Given the description of an element on the screen output the (x, y) to click on. 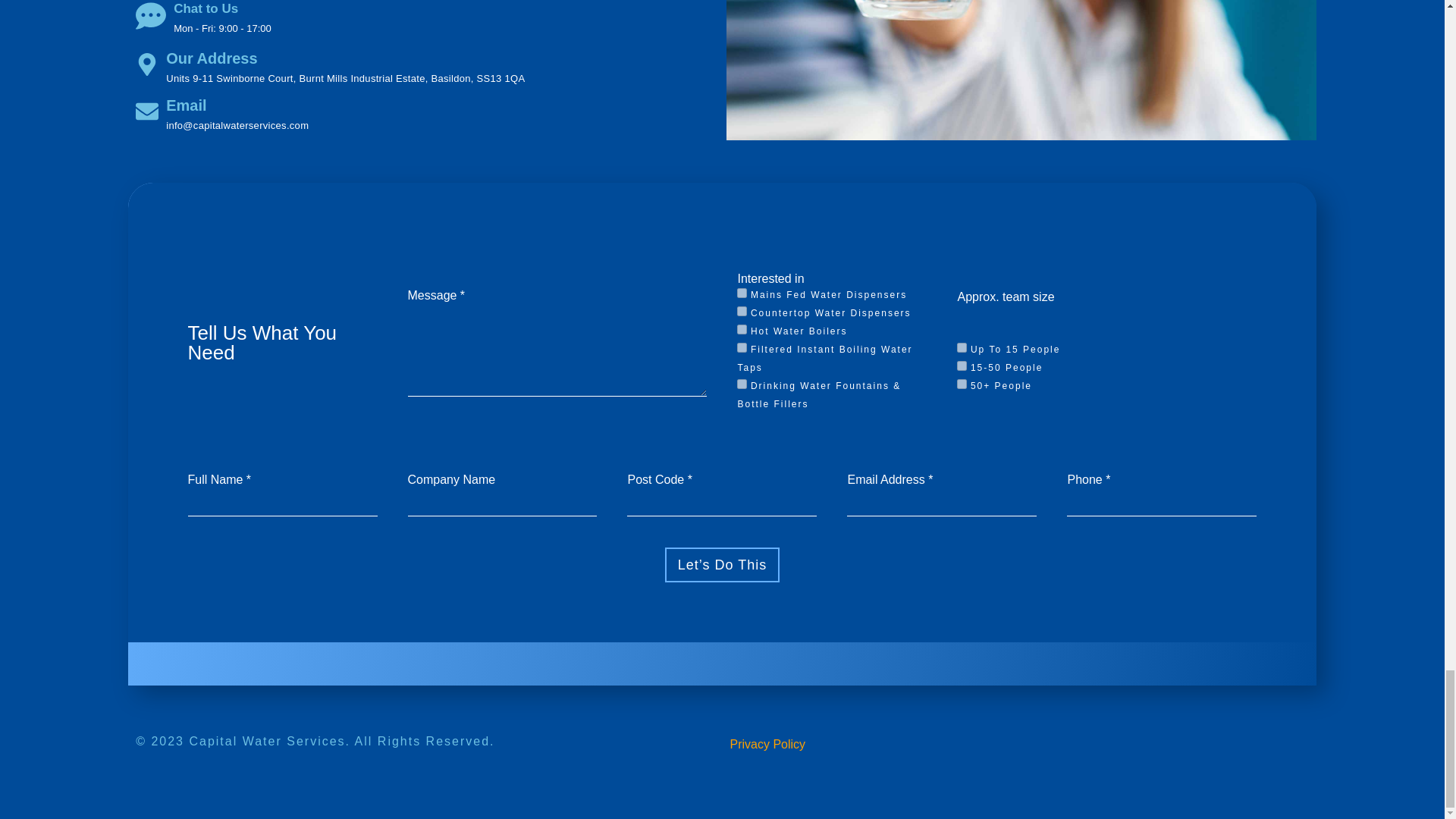
15-50 people (961, 366)
Countertop Water Dispensers (741, 311)
hot water boilers (741, 329)
Filtered Instant Boiling Water Taps (741, 347)
Up to 15 people (961, 347)
Mains Fed Water Dispensers (741, 293)
